Given the description of an element on the screen output the (x, y) to click on. 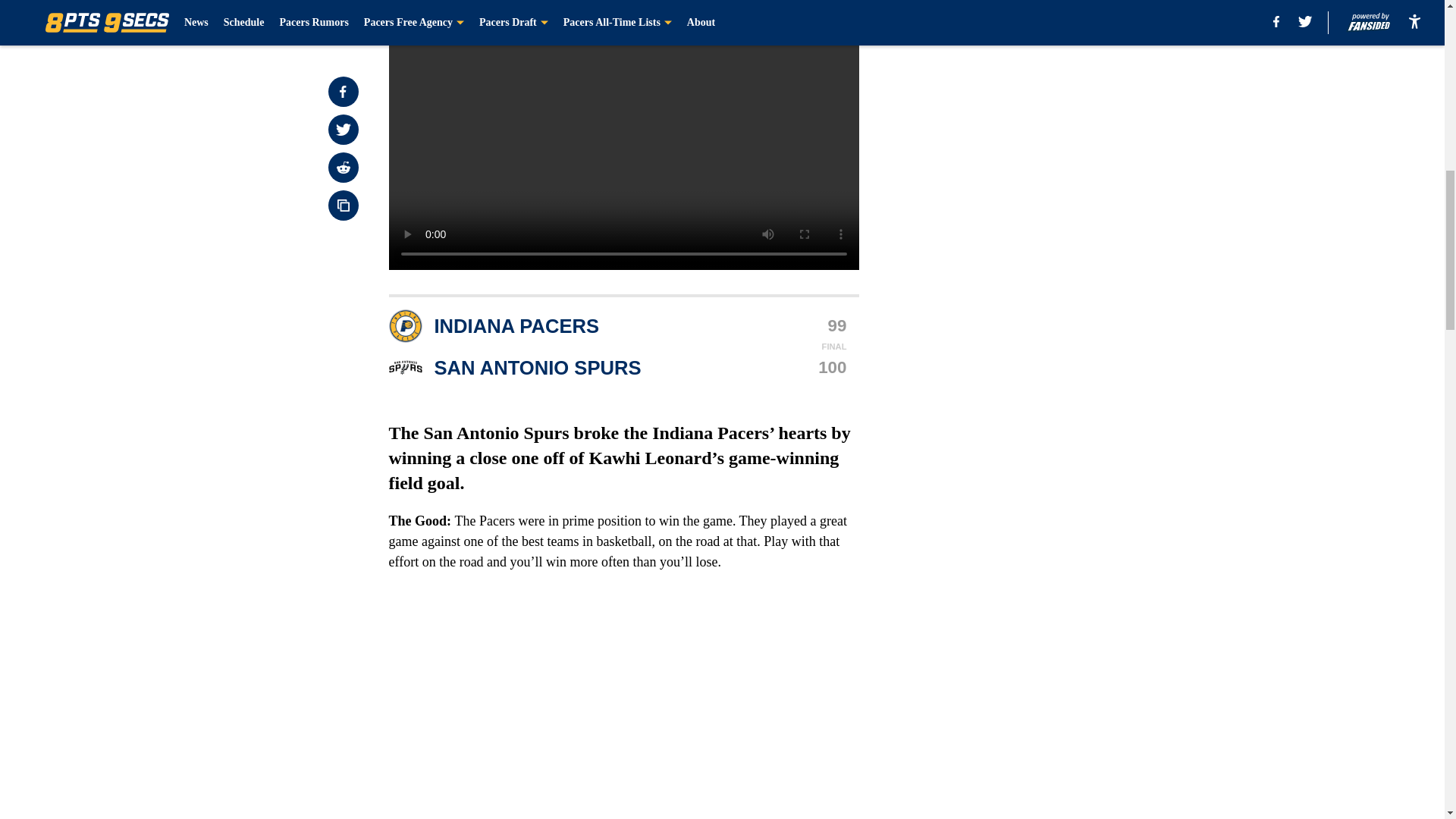
3rd party ad content (1047, 320)
3rd party ad content (1047, 100)
